Given the description of an element on the screen output the (x, y) to click on. 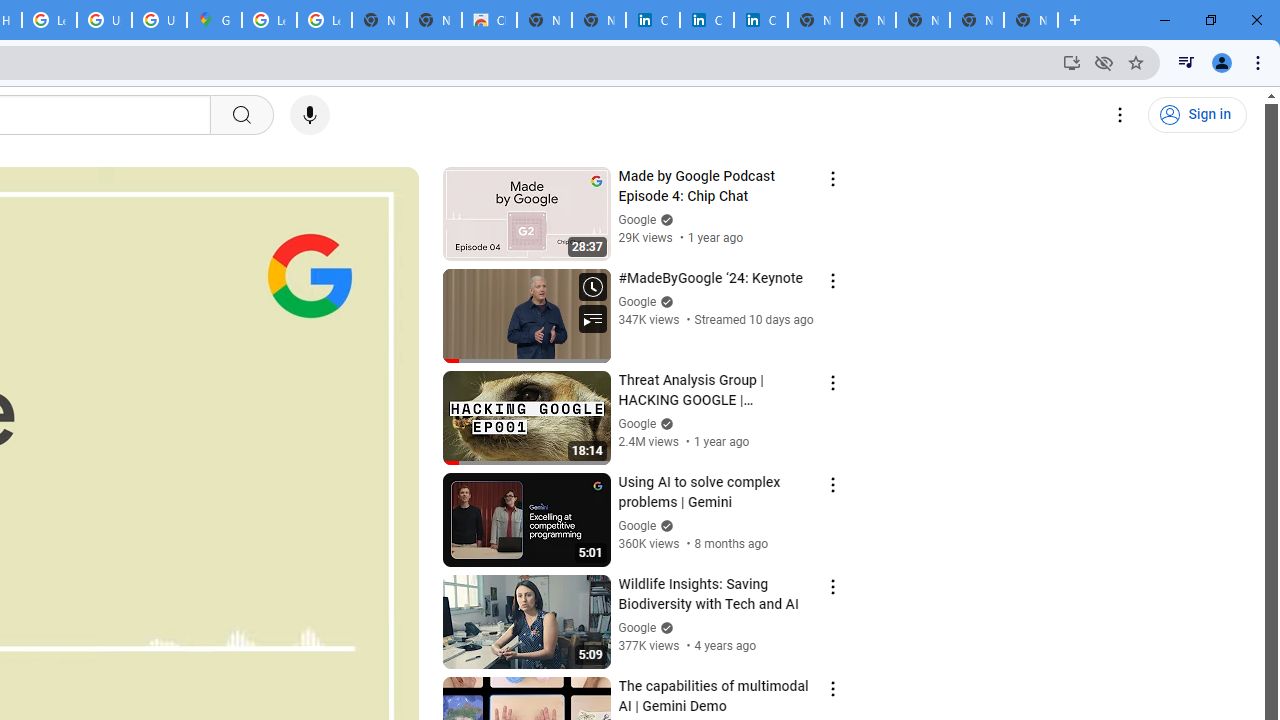
New Tab (1030, 20)
Verified (664, 627)
Cookie Policy | LinkedIn (706, 20)
Copyright Policy (760, 20)
Chrome Web Store (489, 20)
Search with your voice (309, 115)
Cookie Policy | LinkedIn (652, 20)
